Given the description of an element on the screen output the (x, y) to click on. 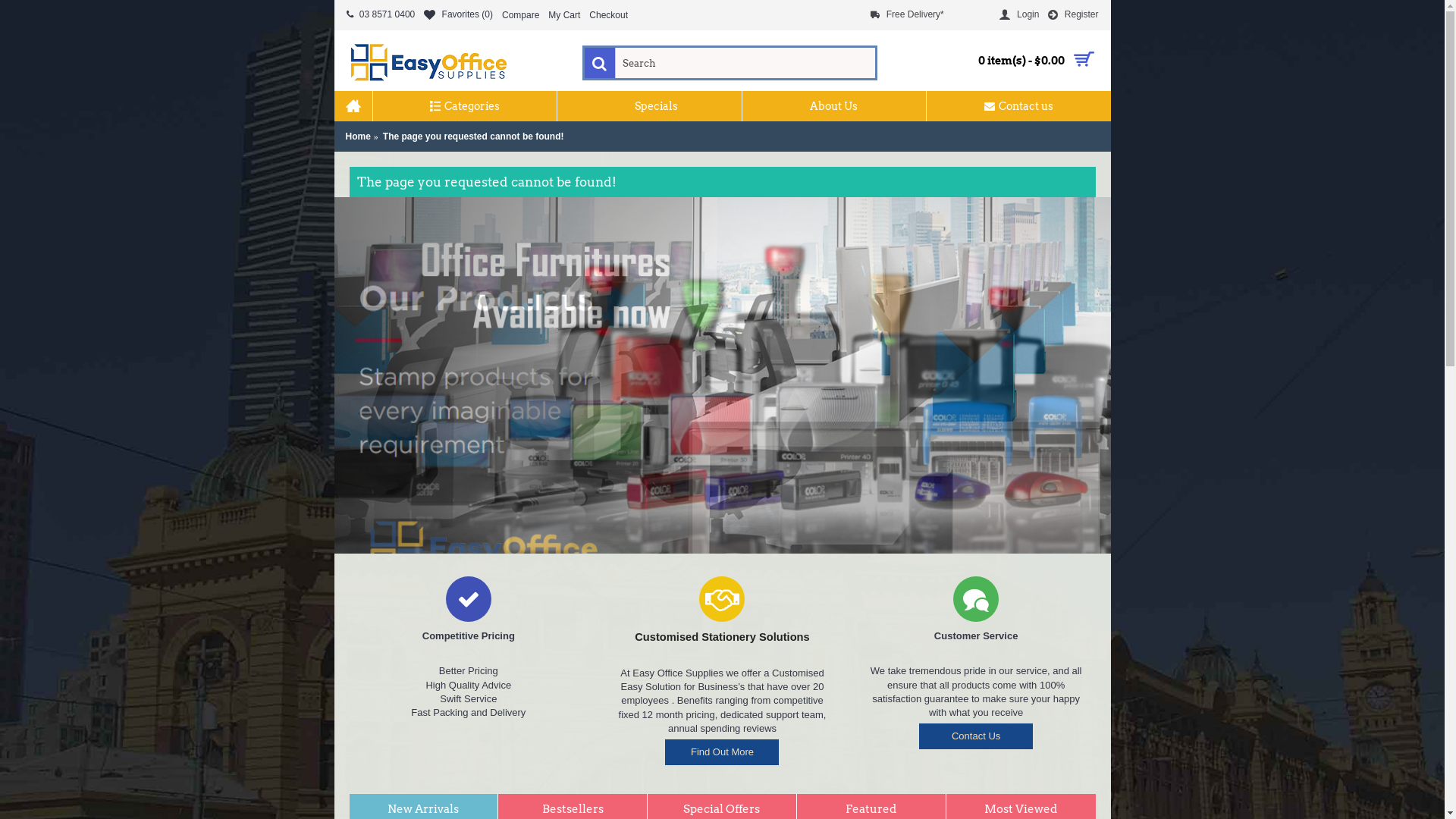
Find Out More Element type: text (721, 752)
Favorites (0) Element type: text (458, 15)
Specials Element type: text (649, 106)
Register Element type: text (1072, 15)
Compare Element type: text (520, 15)
Checkout Element type: text (608, 15)
My Cart Element type: text (563, 15)
Login Element type: text (1019, 15)
03 8571 0400 Element type: text (380, 15)
Free Delivery* Element type: text (906, 15)
0 item(s) - $0.00 Element type: text (1007, 60)
Contact us Element type: text (1018, 106)
The page you requested cannot be found! Element type: text (473, 136)
Contact Us Element type: text (975, 736)
About Us Element type: text (833, 106)
Home Element type: text (357, 136)
Categories Element type: text (465, 106)
Easy office supplies Element type: hover (429, 60)
